Given the description of an element on the screen output the (x, y) to click on. 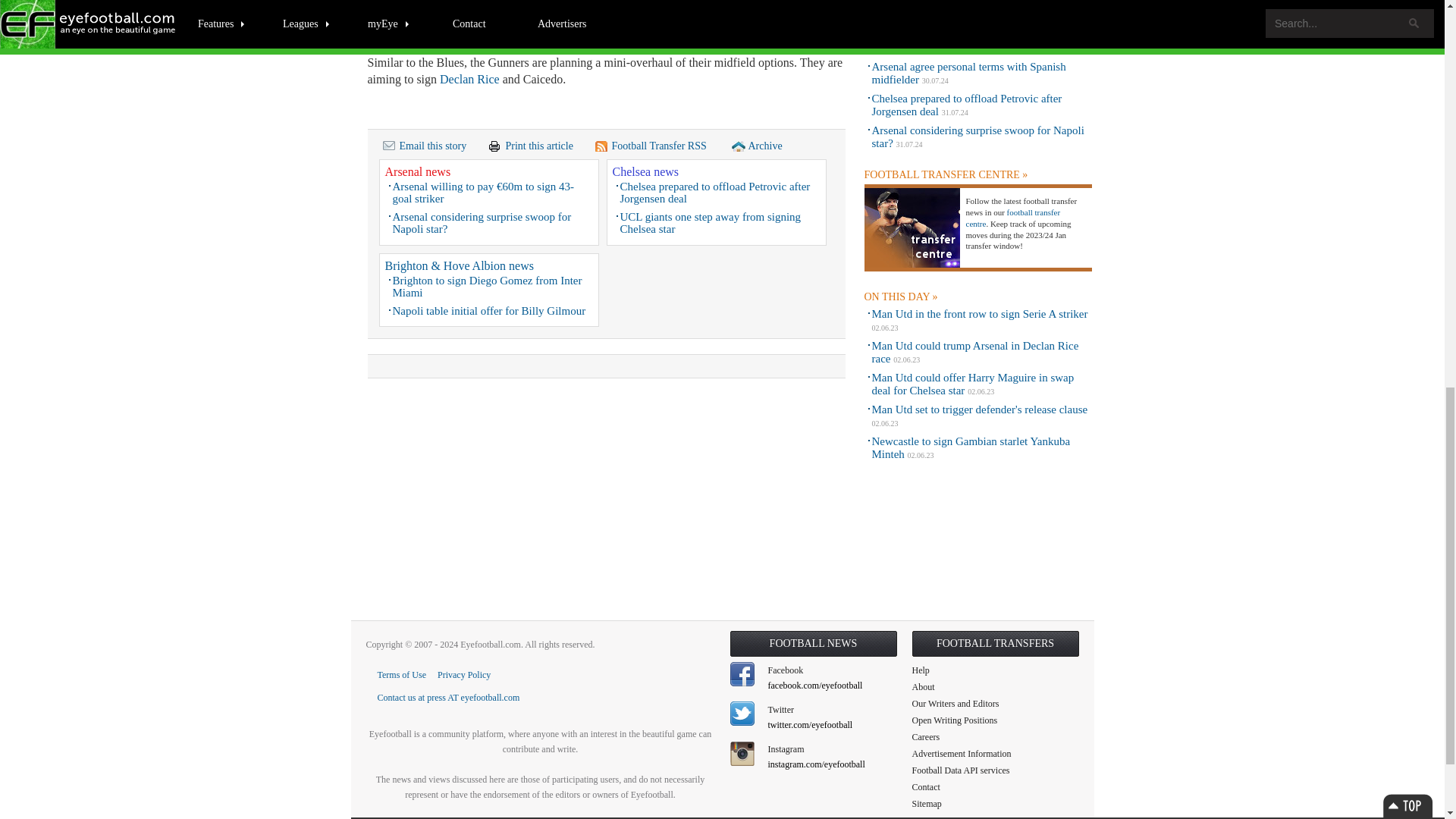
Arsenal (628, 12)
Declan Rice (469, 78)
